Given the description of an element on the screen output the (x, y) to click on. 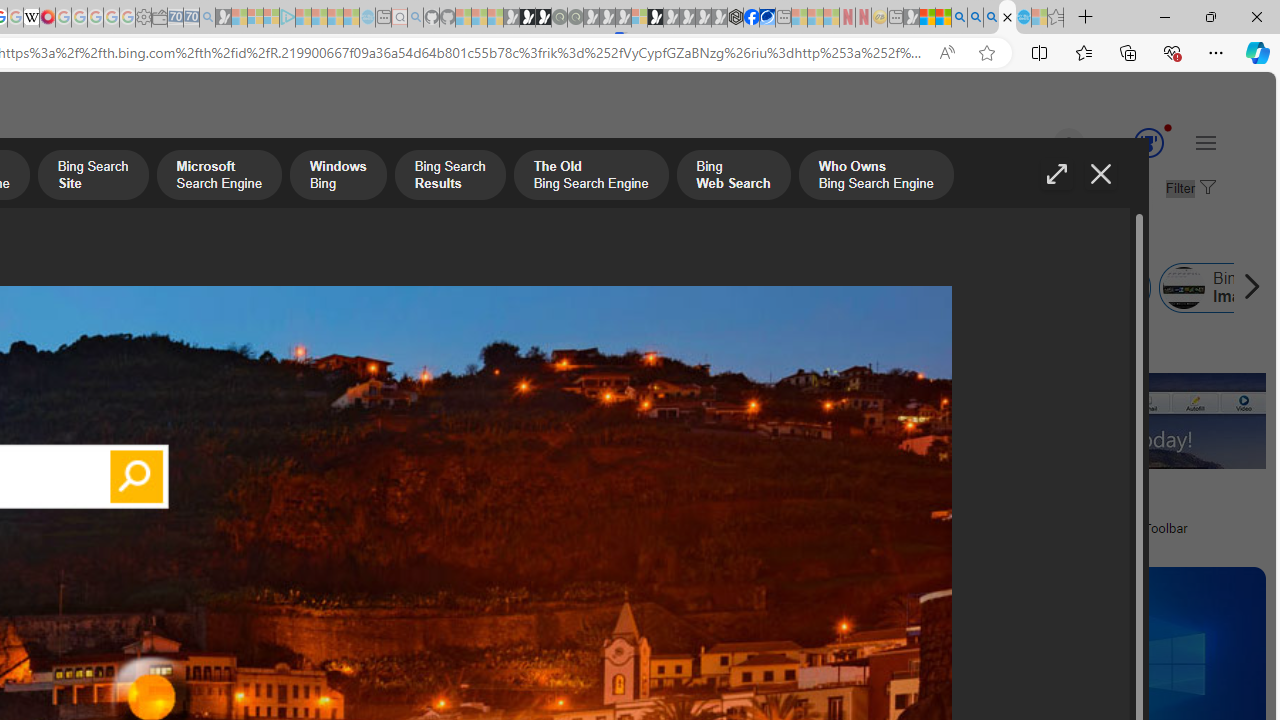
Nordace | Facebook (751, 17)
Bing Web Search (733, 177)
Bing Bar Download (837, 287)
Full screen (1055, 173)
Download Bing Bar, the new Bing Toolbar (1105, 528)
Microsoft Bing Search Bar (105, 287)
MSN - Sleeping (911, 17)
AirNow.gov (767, 17)
